Given the description of an element on the screen output the (x, y) to click on. 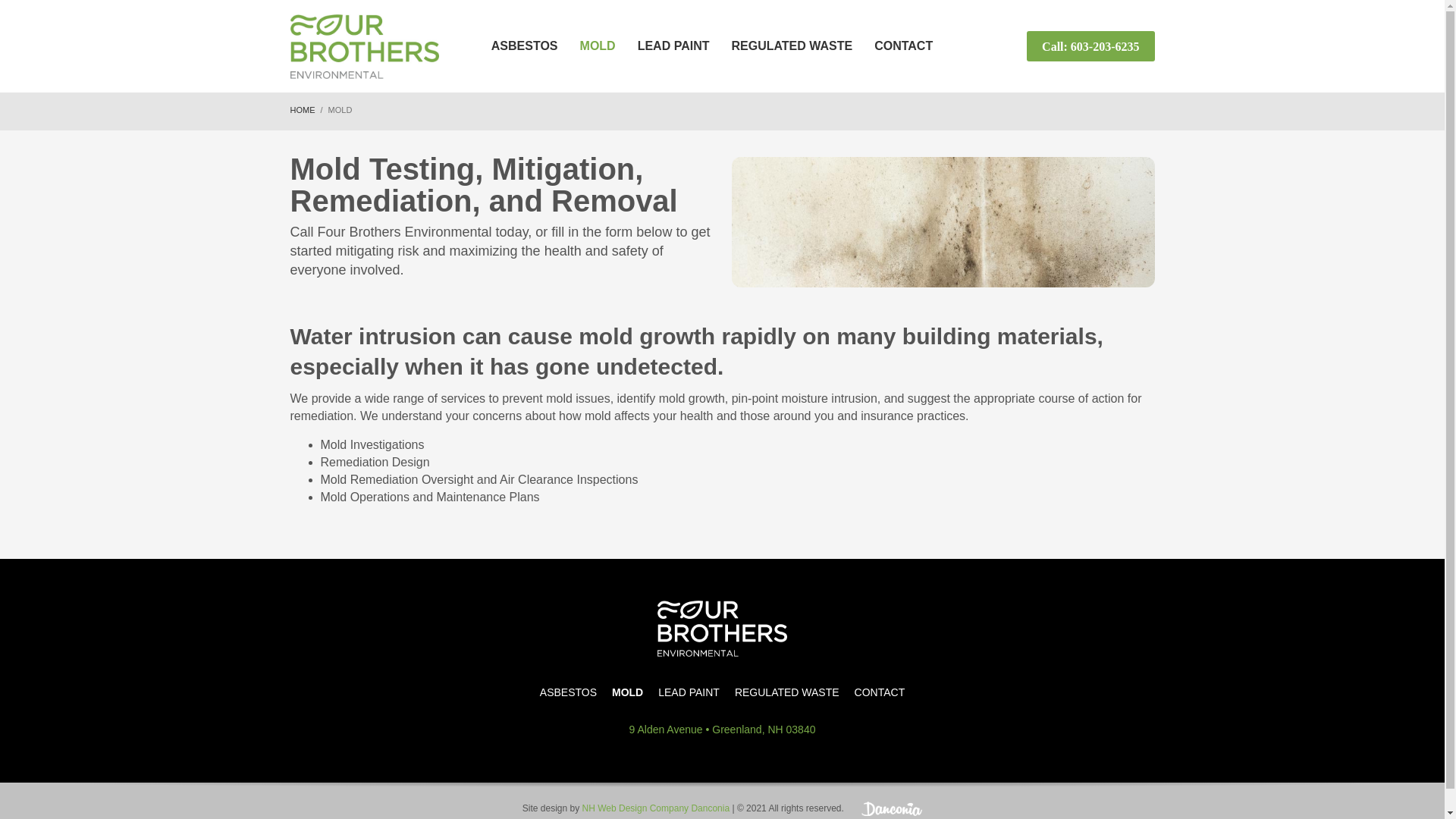
Call: 603-203-6235 (1090, 45)
REGULATED WASTE (787, 692)
4-Brothers-Environmental-Logo-White (722, 628)
HOME (301, 109)
ASBESTOS (524, 46)
MOLD (627, 692)
ASBESTOS (568, 692)
CONTACT (879, 692)
ASBESTOSMOLDLEAD PAINTREGULATED WASTECONTACT (721, 692)
LEAD PAINT (688, 692)
